Given the description of an element on the screen output the (x, y) to click on. 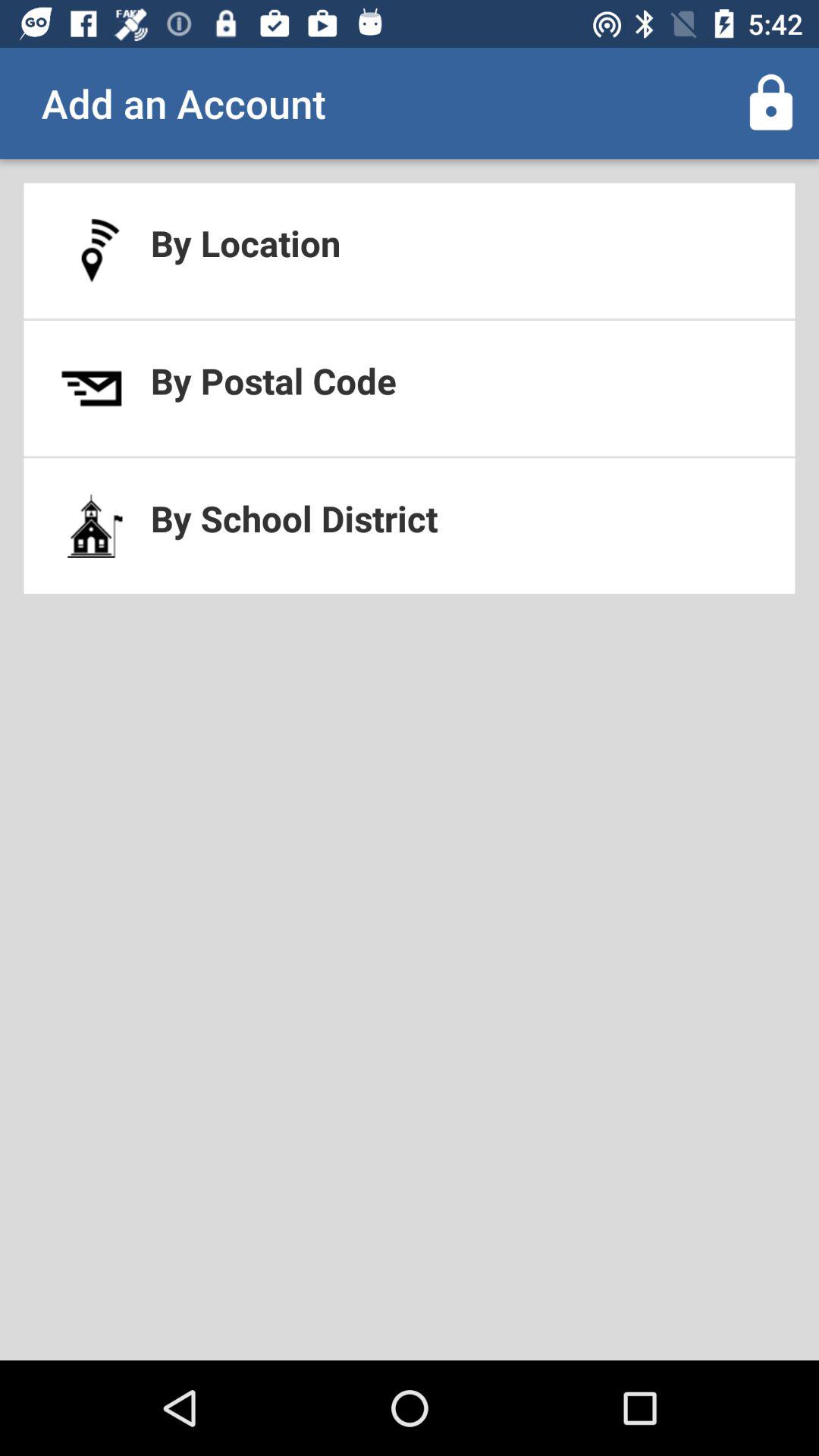
scroll until the    by location item (409, 250)
